Given the description of an element on the screen output the (x, y) to click on. 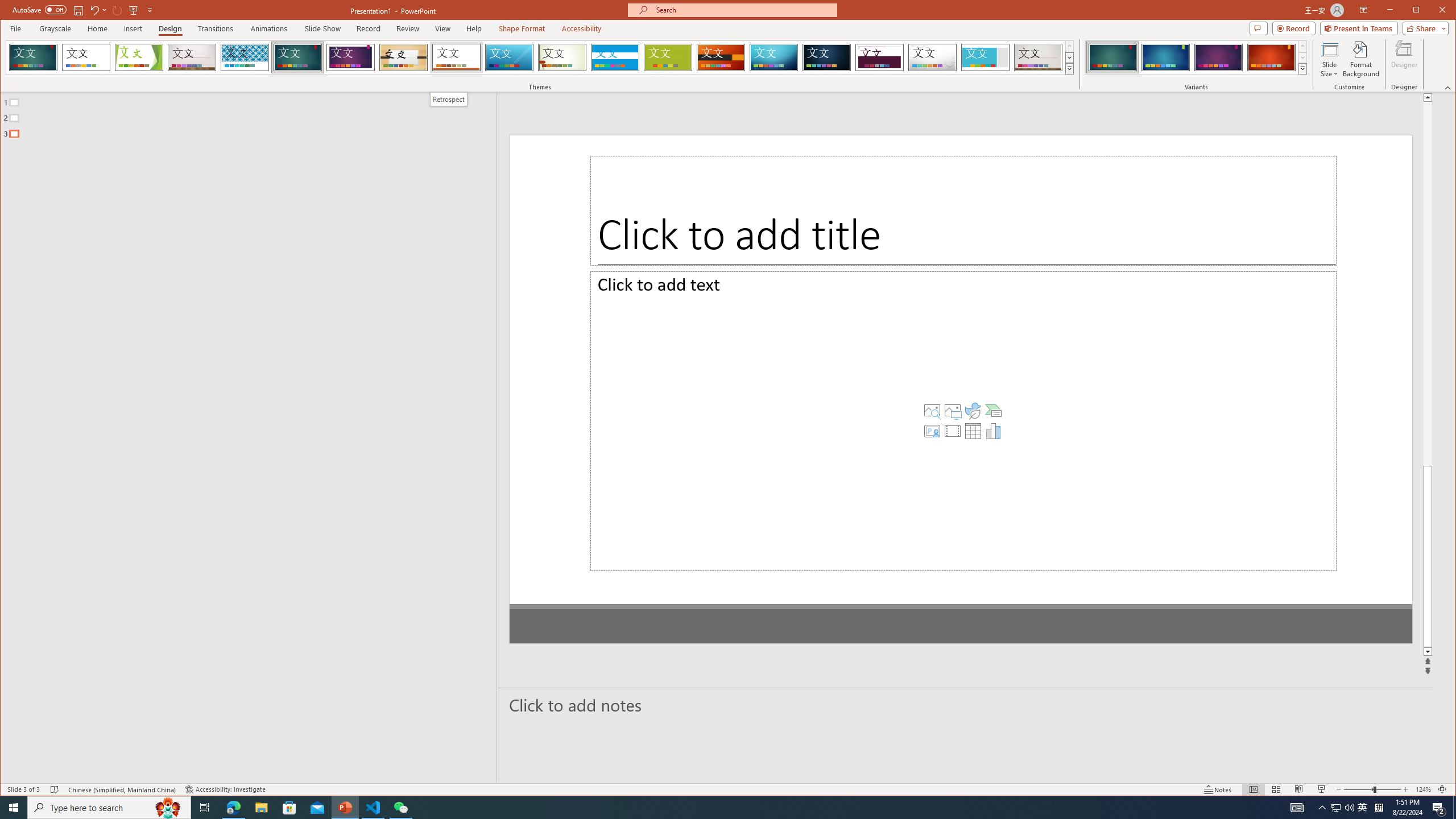
Circuit (773, 57)
Insert Cameo (890, 452)
Ion Variant 1 (1112, 57)
Facet (138, 57)
Slide Size (1328, 59)
Droplet (932, 57)
Ion Variant 3 (1218, 57)
